Given the description of an element on the screen output the (x, y) to click on. 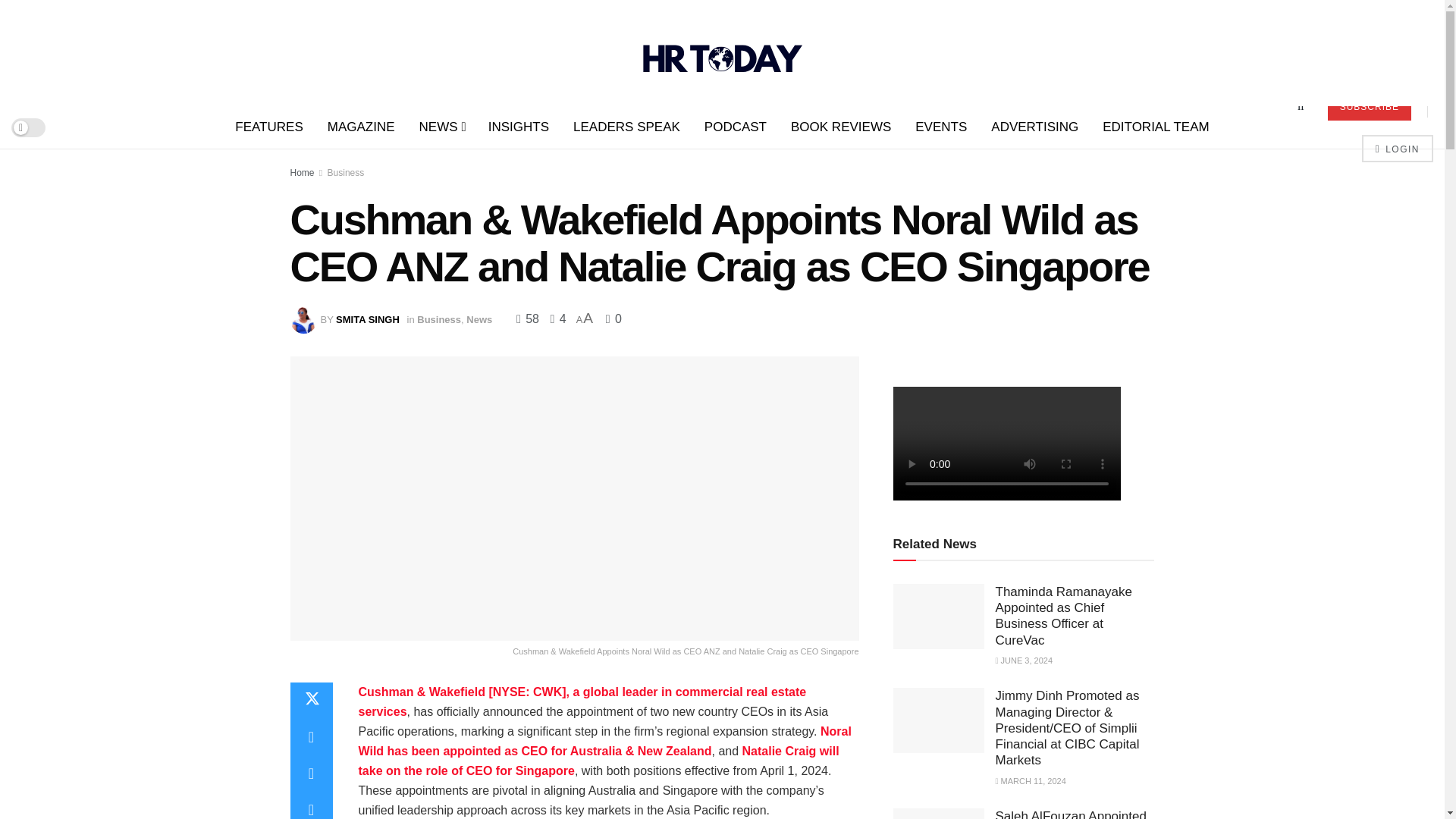
ADVERTISING (1034, 127)
MAGAZINE (361, 127)
PODCAST (735, 127)
SUBSCRIBE (1368, 106)
NEWS (441, 127)
INSIGHTS (518, 127)
EDITORIAL TEAM (1155, 127)
EVENTS (940, 127)
LOGIN (1396, 148)
LEADERS SPEAK (626, 127)
BOOK REVIEWS (840, 127)
FEATURES (268, 127)
